Given the description of an element on the screen output the (x, y) to click on. 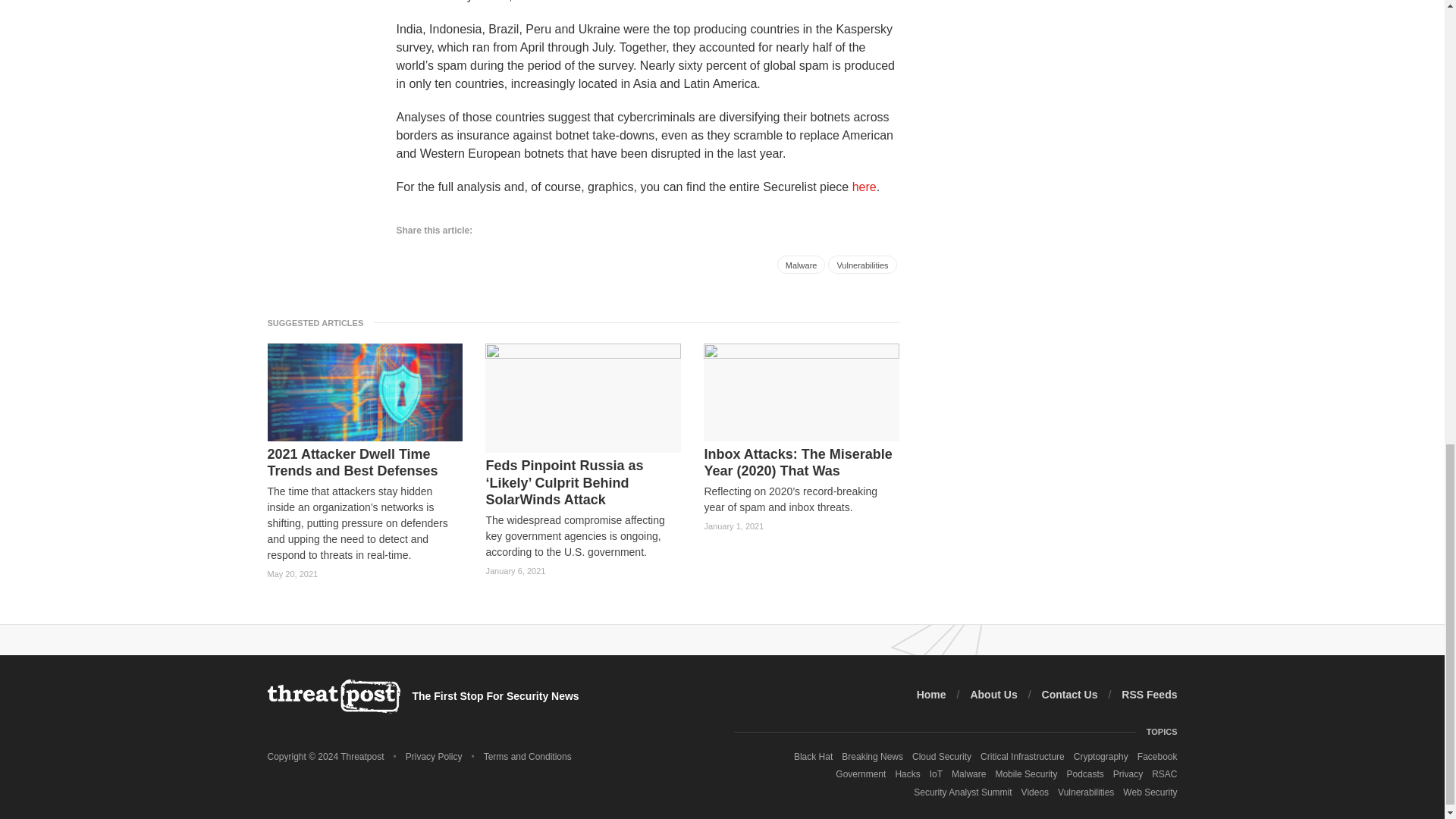
SUGGESTED ARTICLES (319, 322)
Malware (801, 264)
2021 Attacker Dwell Time Trends and Best Defenses (364, 462)
here (863, 185)
Vulnerabilities (862, 264)
